Given the description of an element on the screen output the (x, y) to click on. 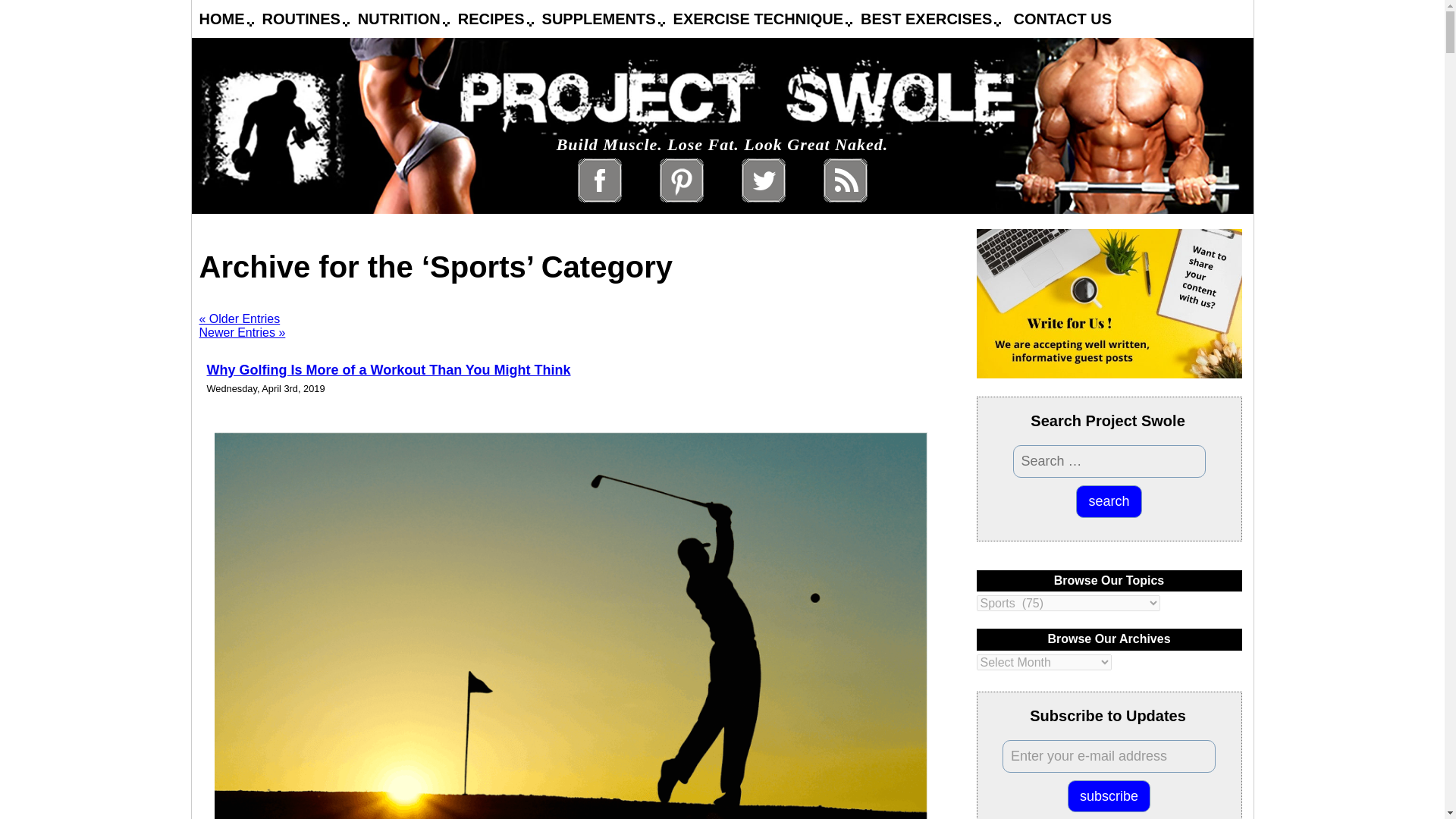
HOME (221, 18)
NUTRITION (399, 18)
Search (1108, 501)
Search (1108, 501)
RECIPES (491, 18)
subscribe (1108, 795)
Enter your e-mail address (1109, 756)
ROUTINES (301, 18)
